Given the description of an element on the screen output the (x, y) to click on. 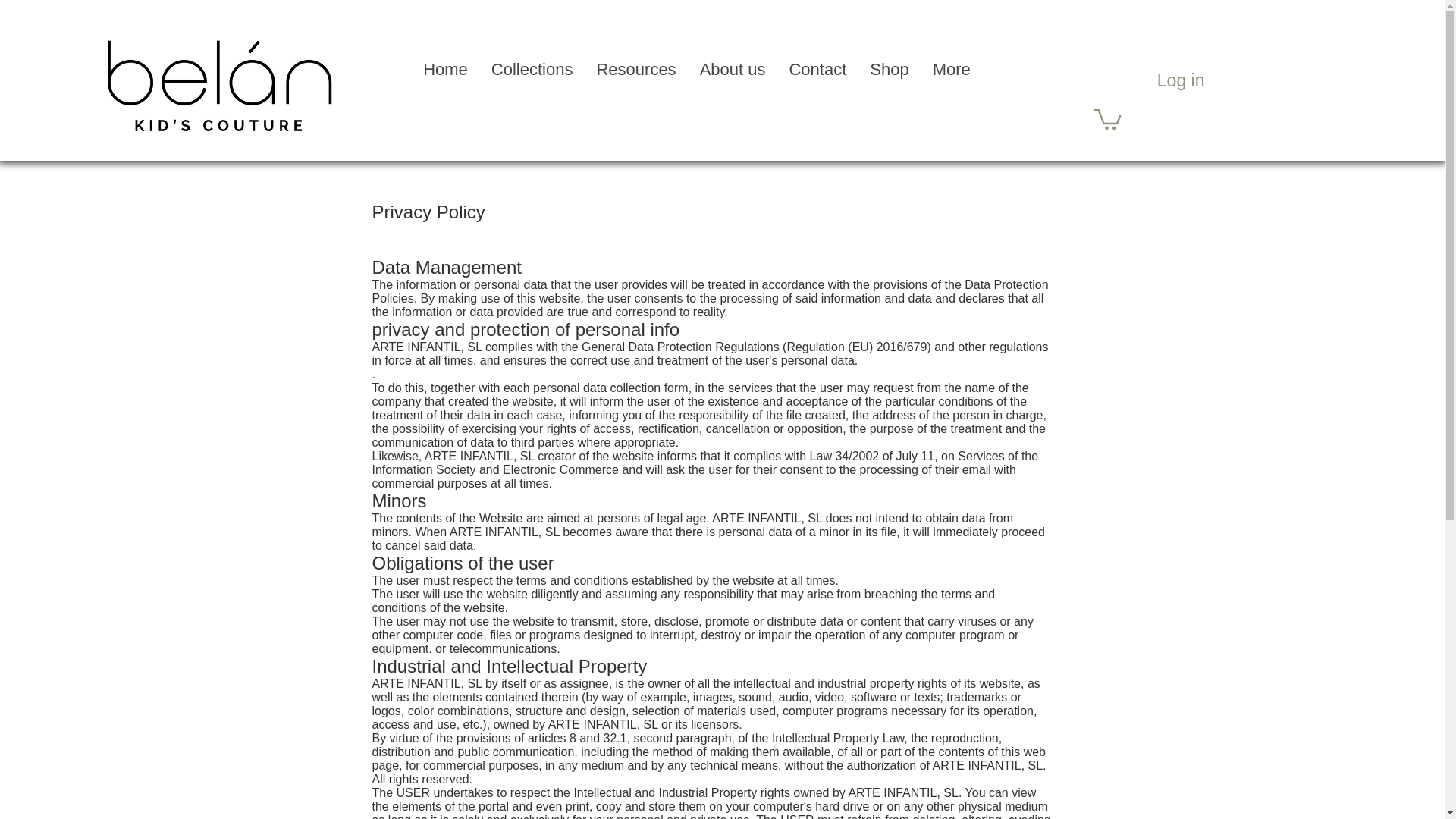
Home (445, 80)
Capture.JPG (216, 83)
Collections (532, 80)
About us (732, 80)
Log in (1181, 80)
Shop (888, 80)
Contact (816, 80)
Resources (635, 80)
